Given the description of an element on the screen output the (x, y) to click on. 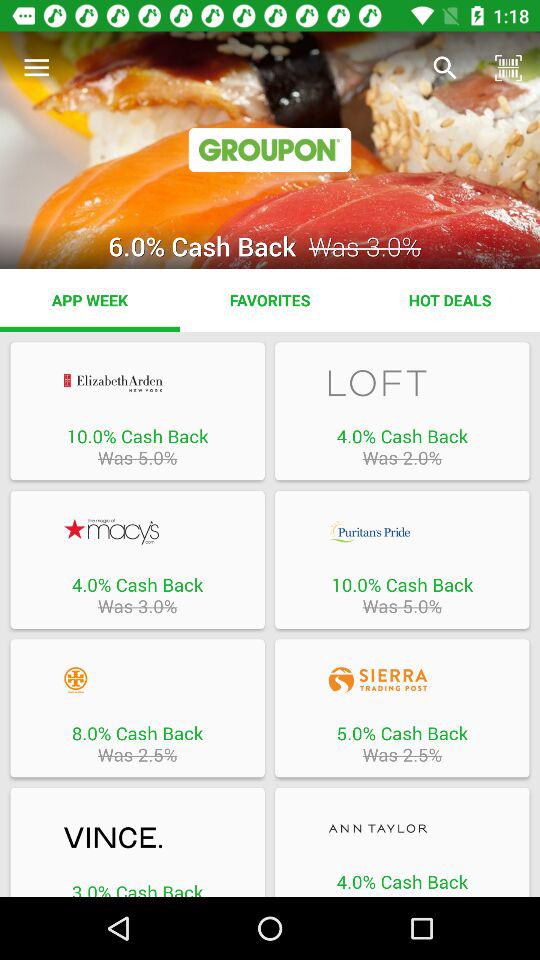
its just an word (402, 828)
